Given the description of an element on the screen output the (x, y) to click on. 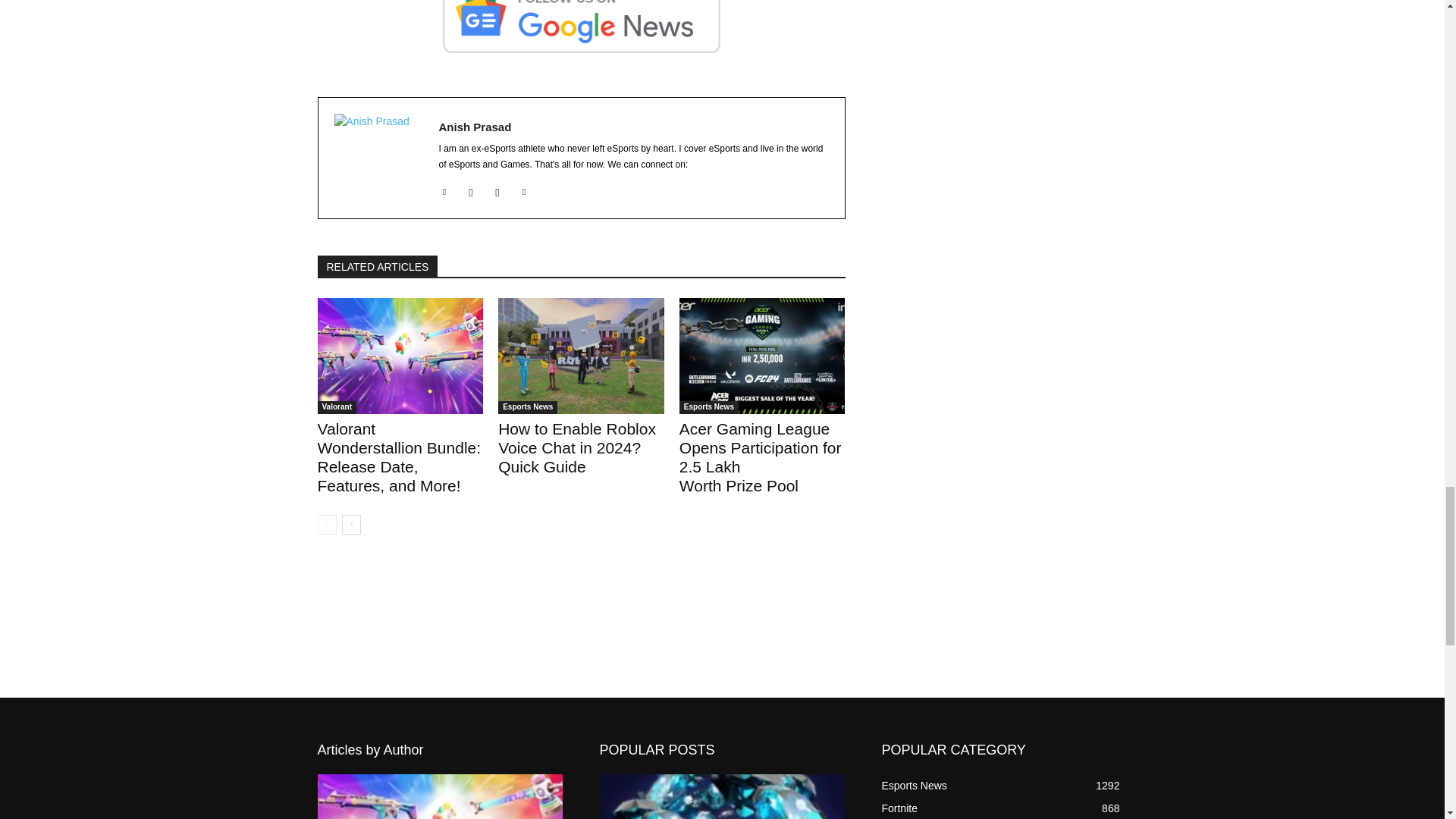
Mail (471, 188)
Anish Prasad (377, 157)
Linkedin (443, 188)
Steam (497, 188)
Twitter (523, 188)
